Given the description of an element on the screen output the (x, y) to click on. 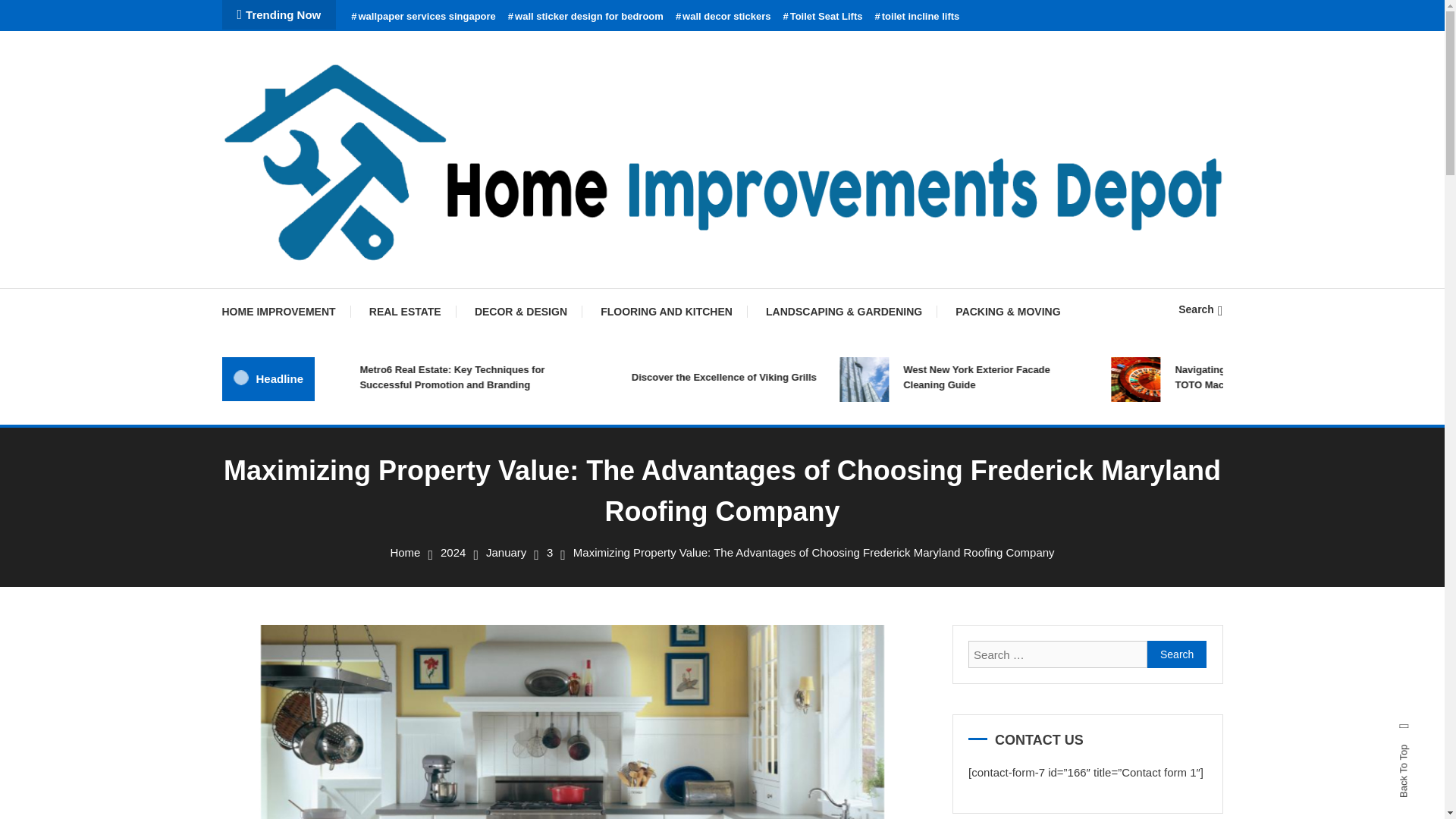
FLOORING AND KITCHEN (666, 311)
wall decor stickers (723, 16)
REAL ESTATE (405, 311)
Search (1200, 309)
Home (405, 552)
January (505, 552)
wallpaper services singapore (423, 16)
Search (1177, 654)
wall sticker design for bedroom (585, 16)
Discover the Excellence of Viking Grills (748, 377)
West New York Exterior Facade Cleaning Guide (1020, 377)
Search (1177, 654)
Toilet Seat Lifts (822, 16)
HOME IMPROVEMENT (285, 311)
